Given the description of an element on the screen output the (x, y) to click on. 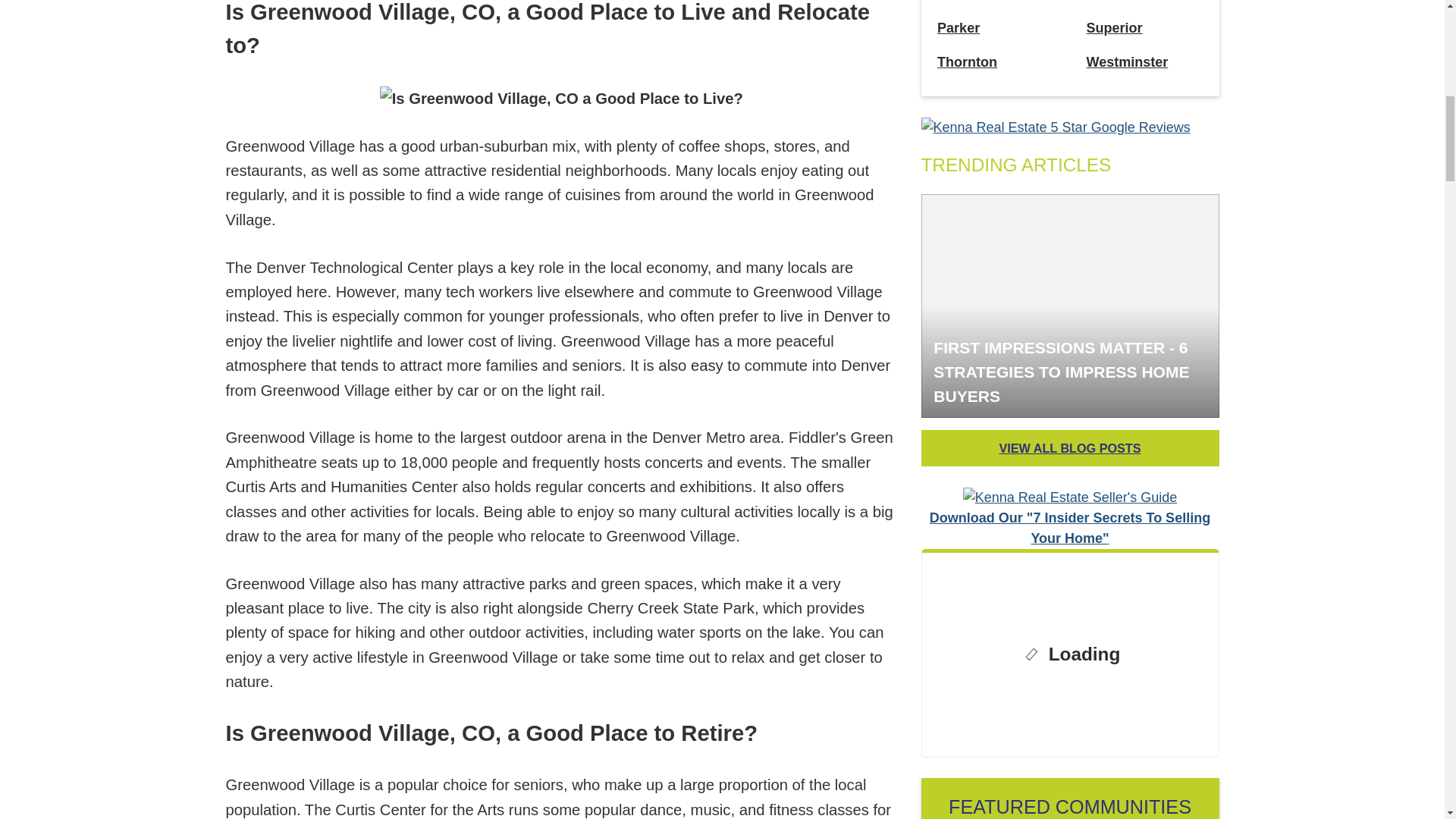
Is Greenwood Village, CO a Good Place to Live? (561, 98)
